Given the description of an element on the screen output the (x, y) to click on. 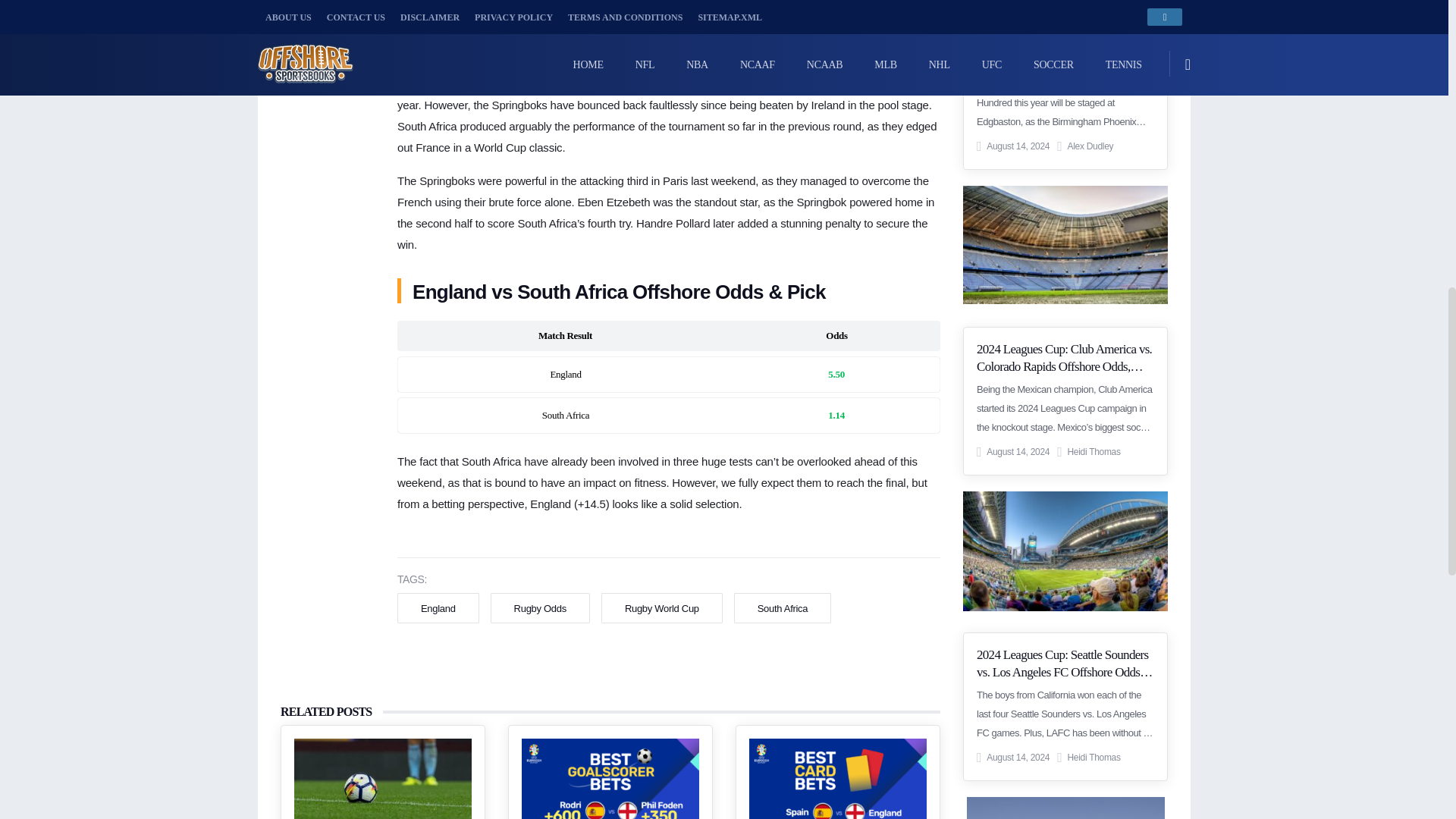
TWEET (319, 7)
Rugby Odds (540, 607)
5.50 (836, 374)
South Africa (783, 607)
Rugby World Cup (662, 607)
England (438, 607)
1.14 (836, 415)
